Given the description of an element on the screen output the (x, y) to click on. 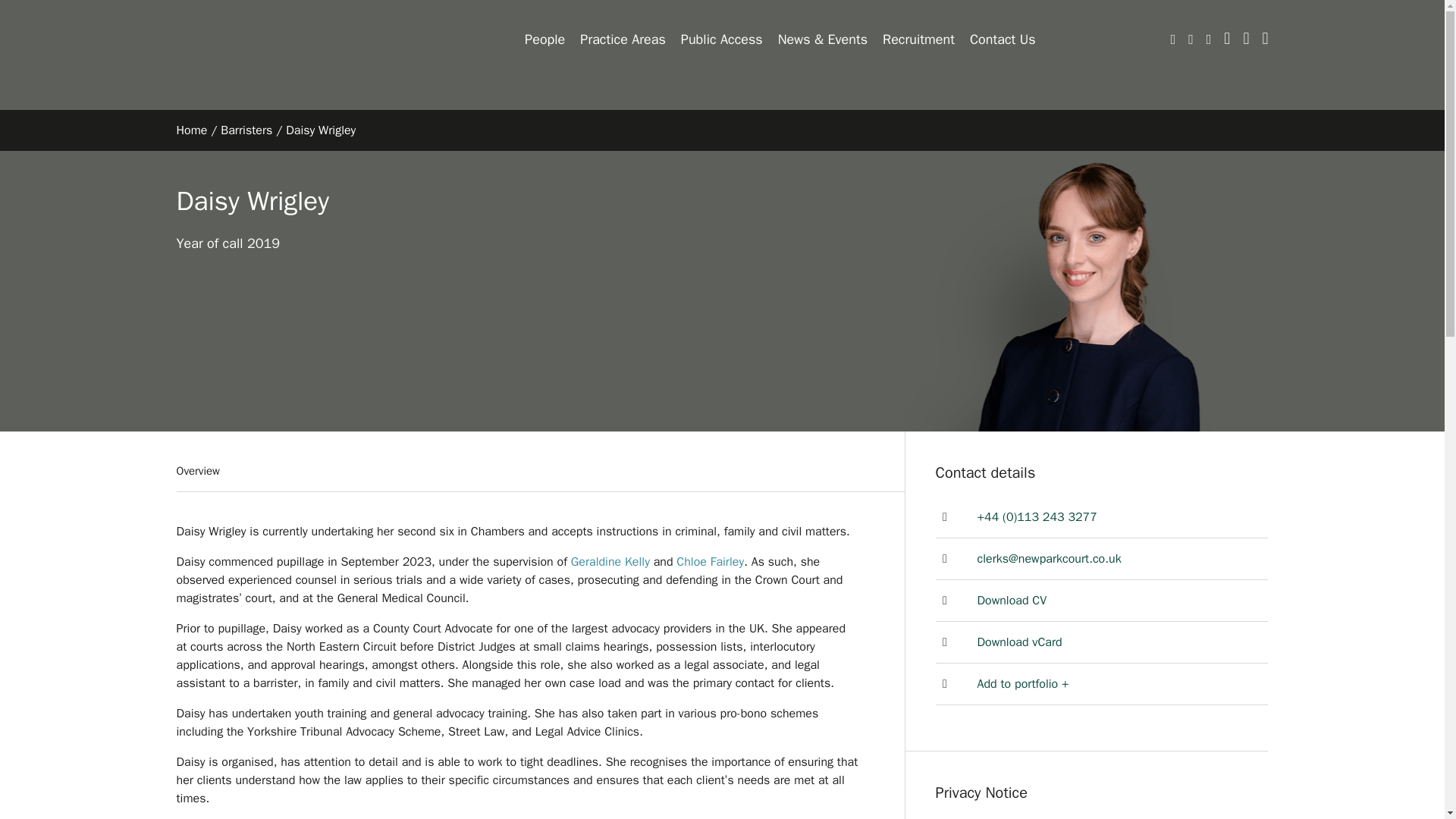
Barristers (246, 130)
People (544, 39)
Recruitment (918, 39)
Geraldine Kelly (609, 561)
Overview (211, 476)
Chloe Fairley (710, 561)
Portfolio (1022, 683)
Practice Areas (622, 39)
Home (191, 130)
Public Access (721, 39)
